Given the description of an element on the screen output the (x, y) to click on. 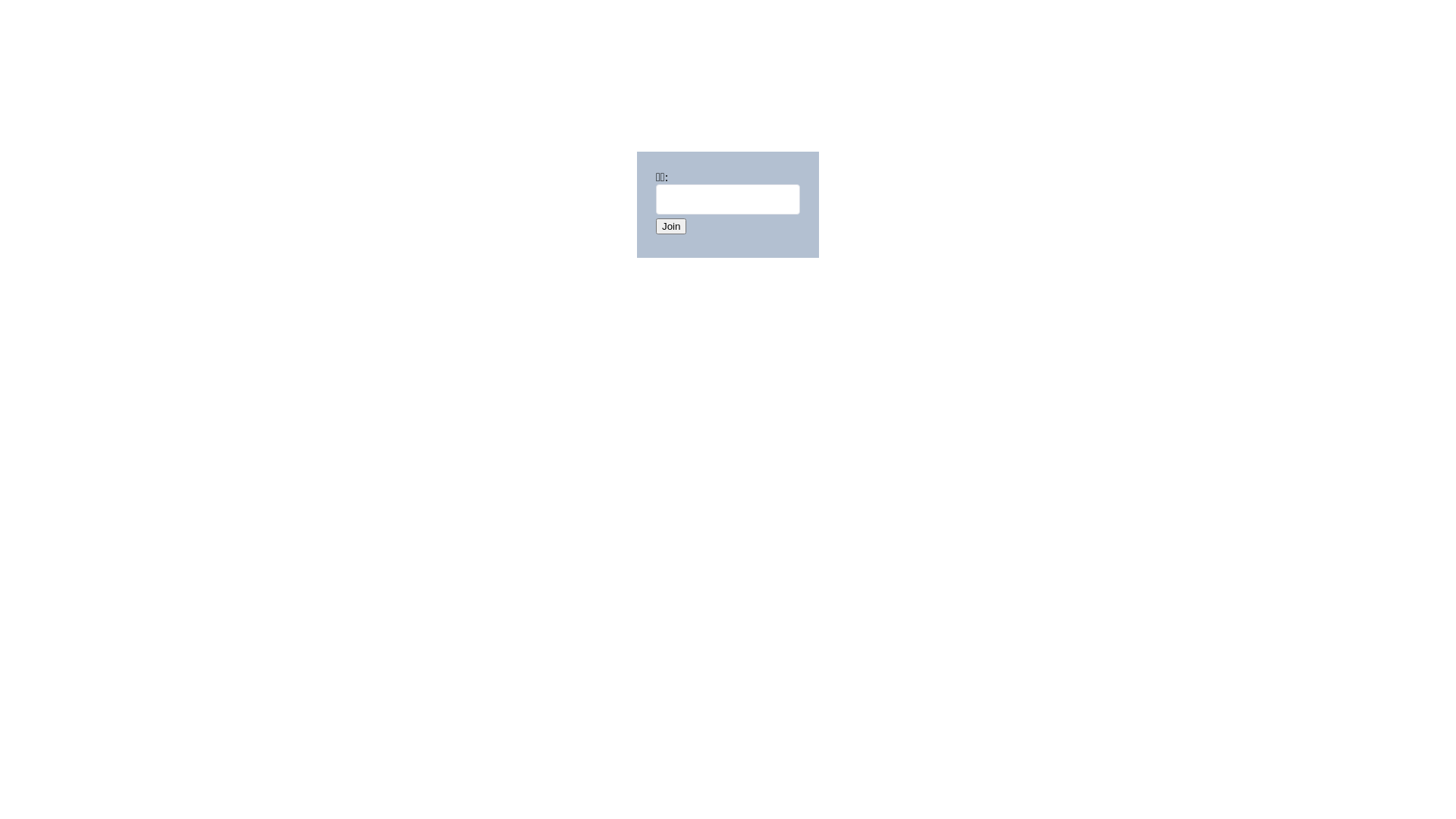
Join Element type: text (670, 226)
